Given the description of an element on the screen output the (x, y) to click on. 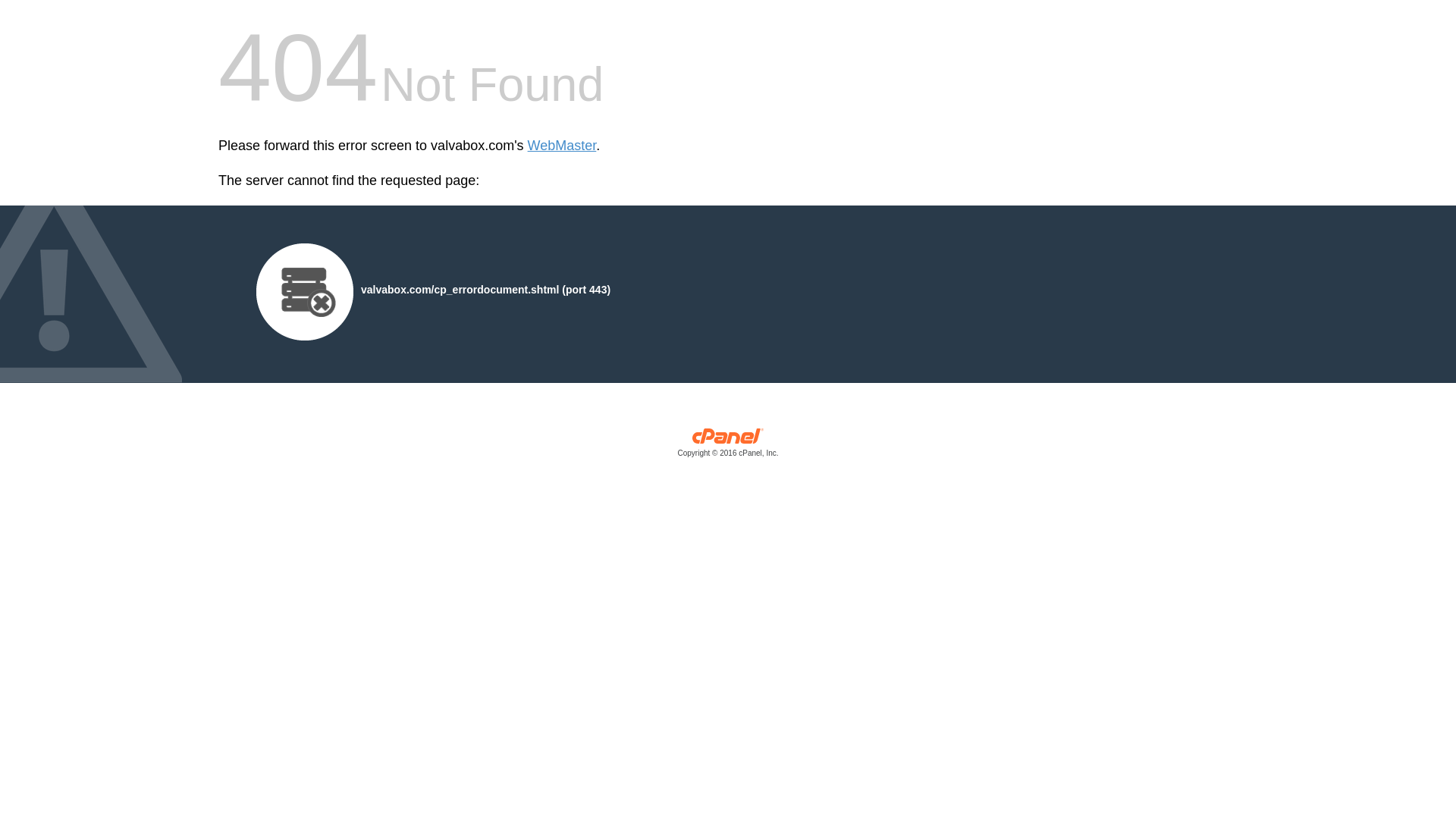
cPanel, Inc. (727, 446)
WebMaster (561, 145)
